Given the description of an element on the screen output the (x, y) to click on. 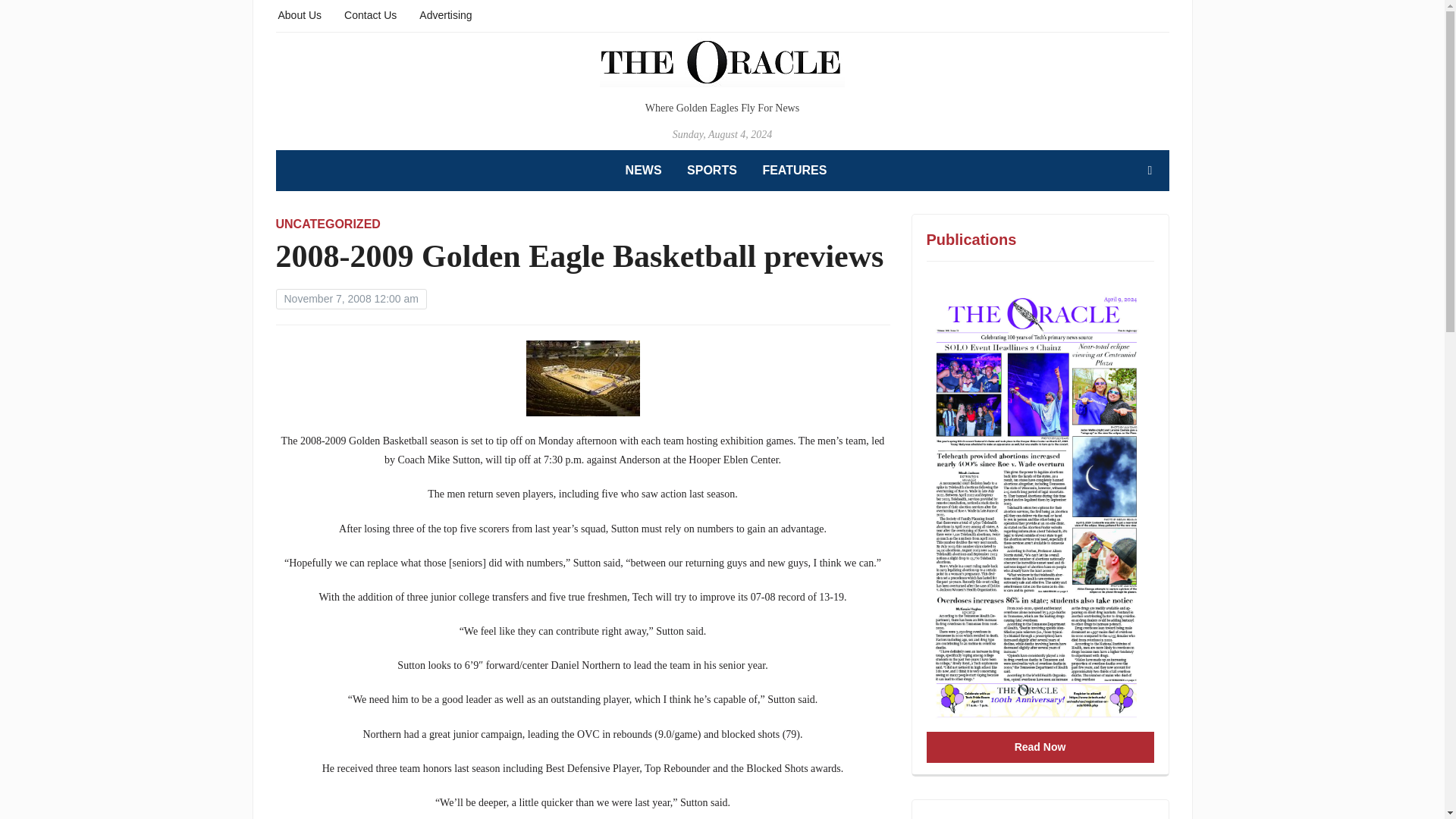
About Us (299, 14)
Contact Us (369, 14)
Advertising (445, 14)
Search (1149, 170)
UNCATEGORIZED (328, 223)
SPORTS (711, 170)
NEWS (644, 170)
Read Now (1040, 747)
FEATURES (794, 170)
